Given the description of an element on the screen output the (x, y) to click on. 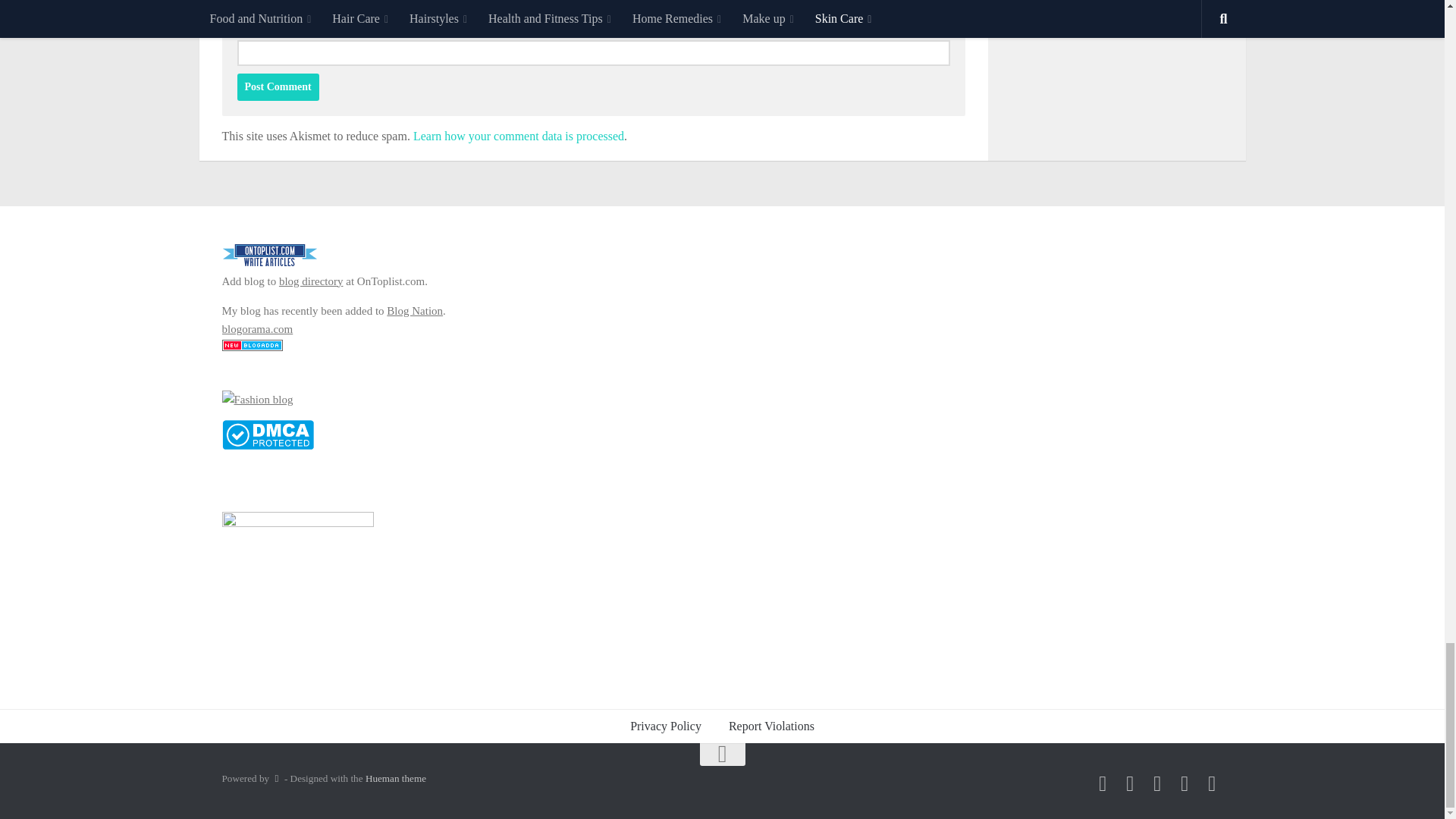
Post Comment (276, 86)
